Given the description of an element on the screen output the (x, y) to click on. 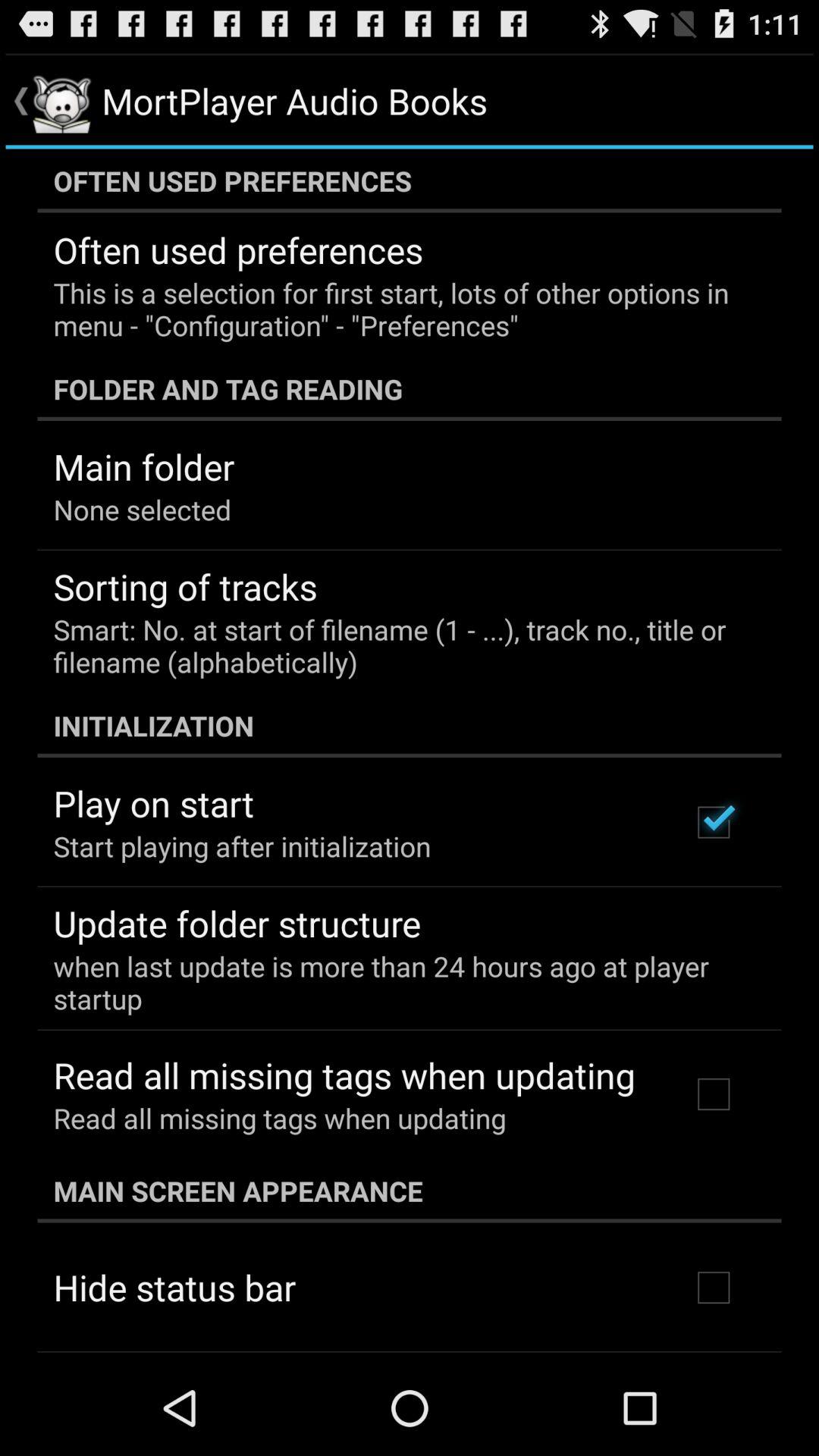
click the play on start item (153, 803)
